Given the description of an element on the screen output the (x, y) to click on. 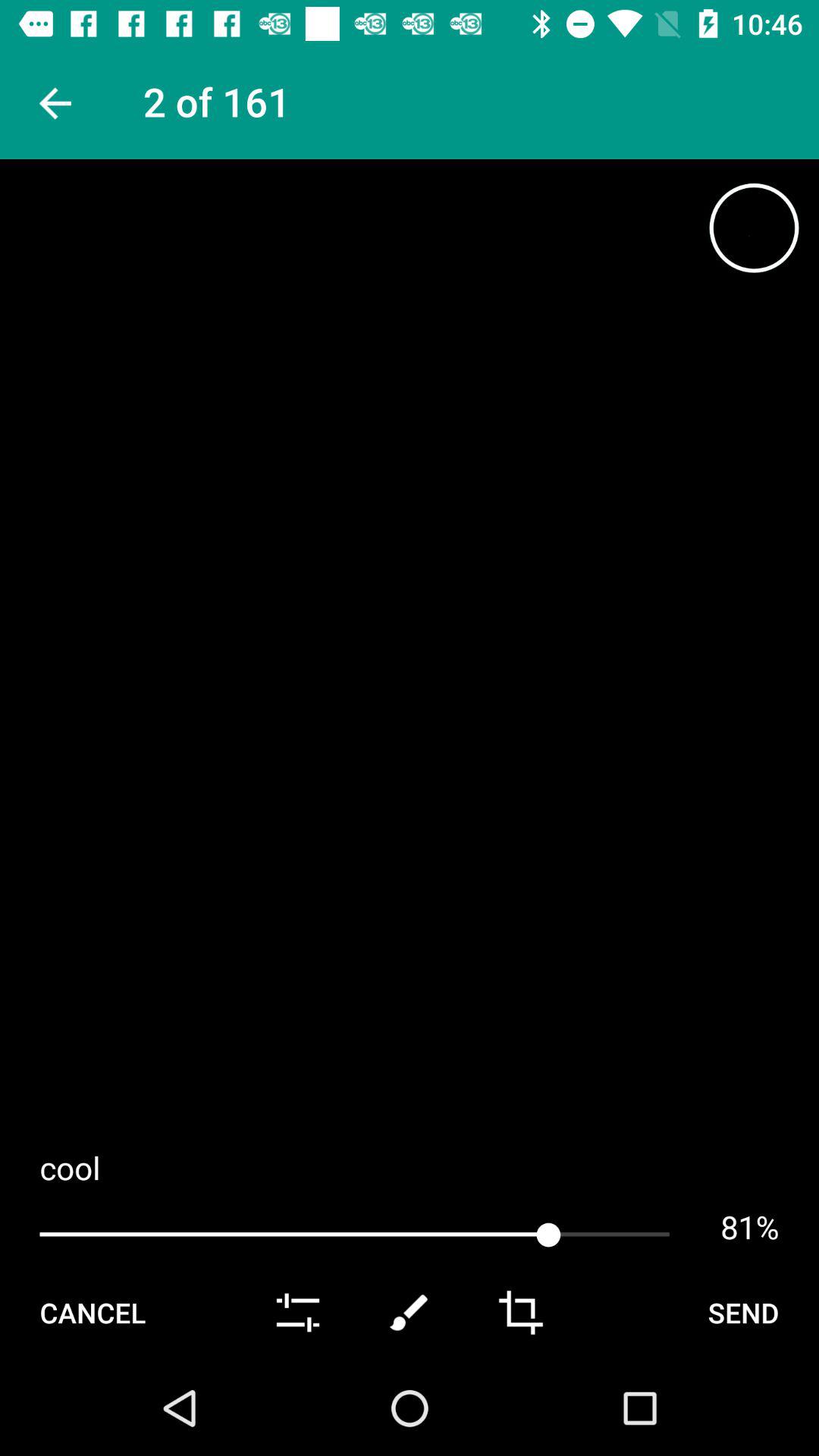
choose cool app (409, 1167)
